Given the description of an element on the screen output the (x, y) to click on. 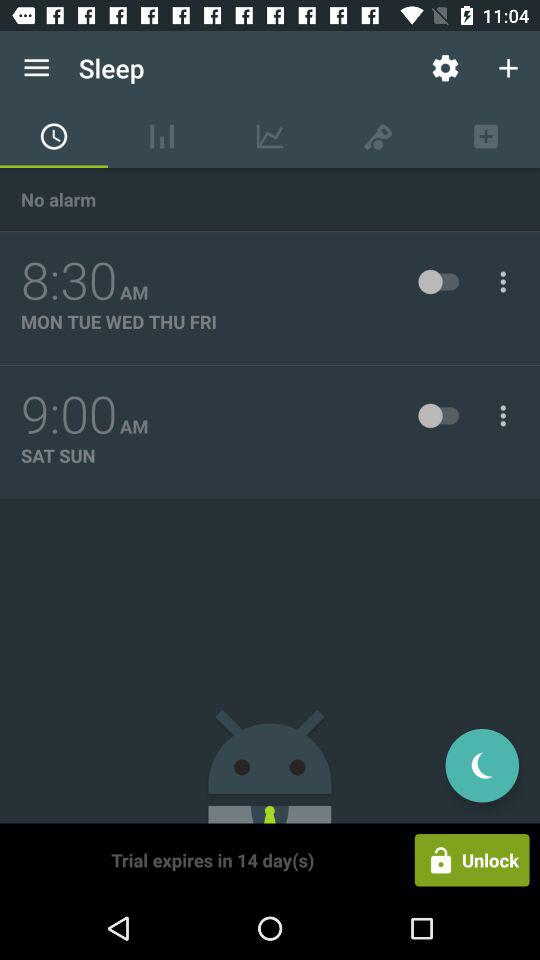
press the icon to the left of the am item (69, 281)
